Given the description of an element on the screen output the (x, y) to click on. 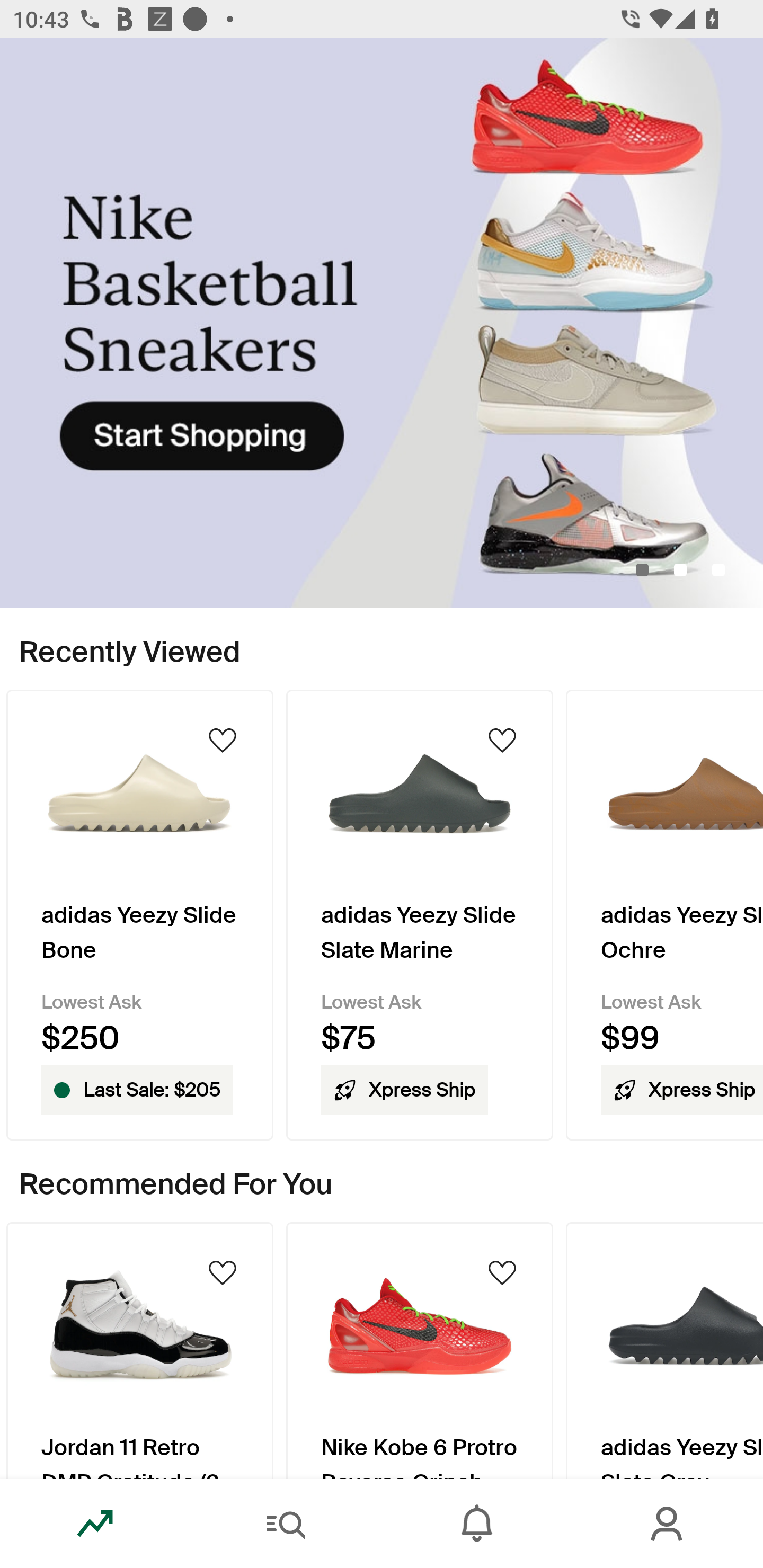
NikeBasketballSprint_Followup_Primary_Mobile.jpg (381, 322)
Product Image Jordan 11 Retro DMP Gratitude (2023) (139, 1349)
Product Image Nike Kobe 6 Protro Reverse Grinch (419, 1349)
Product Image adidas Yeezy Slide Slate Grey (664, 1349)
Search (285, 1523)
Inbox (476, 1523)
Account (667, 1523)
